Given the description of an element on the screen output the (x, y) to click on. 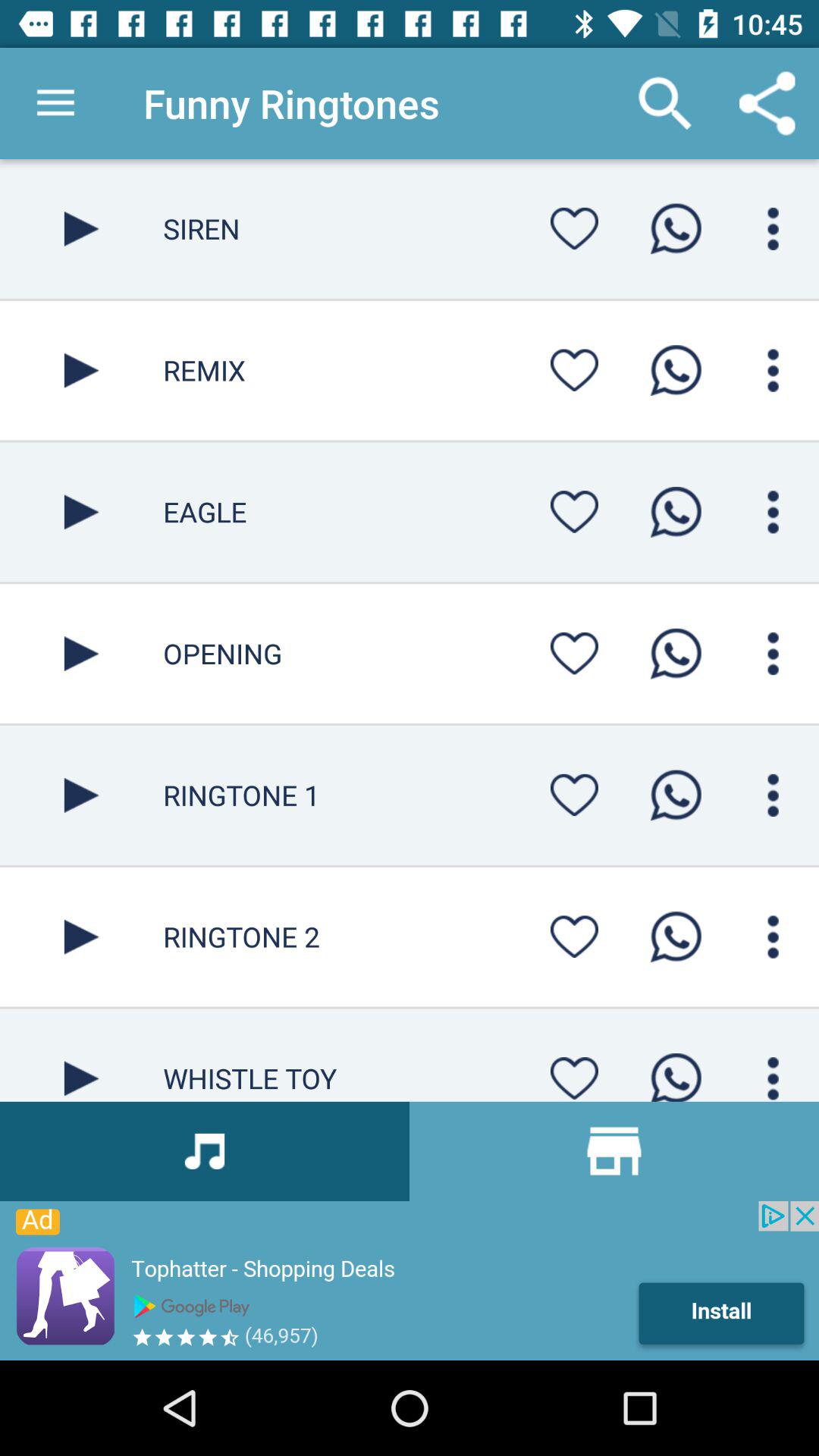
mune button (773, 228)
